Given the description of an element on the screen output the (x, y) to click on. 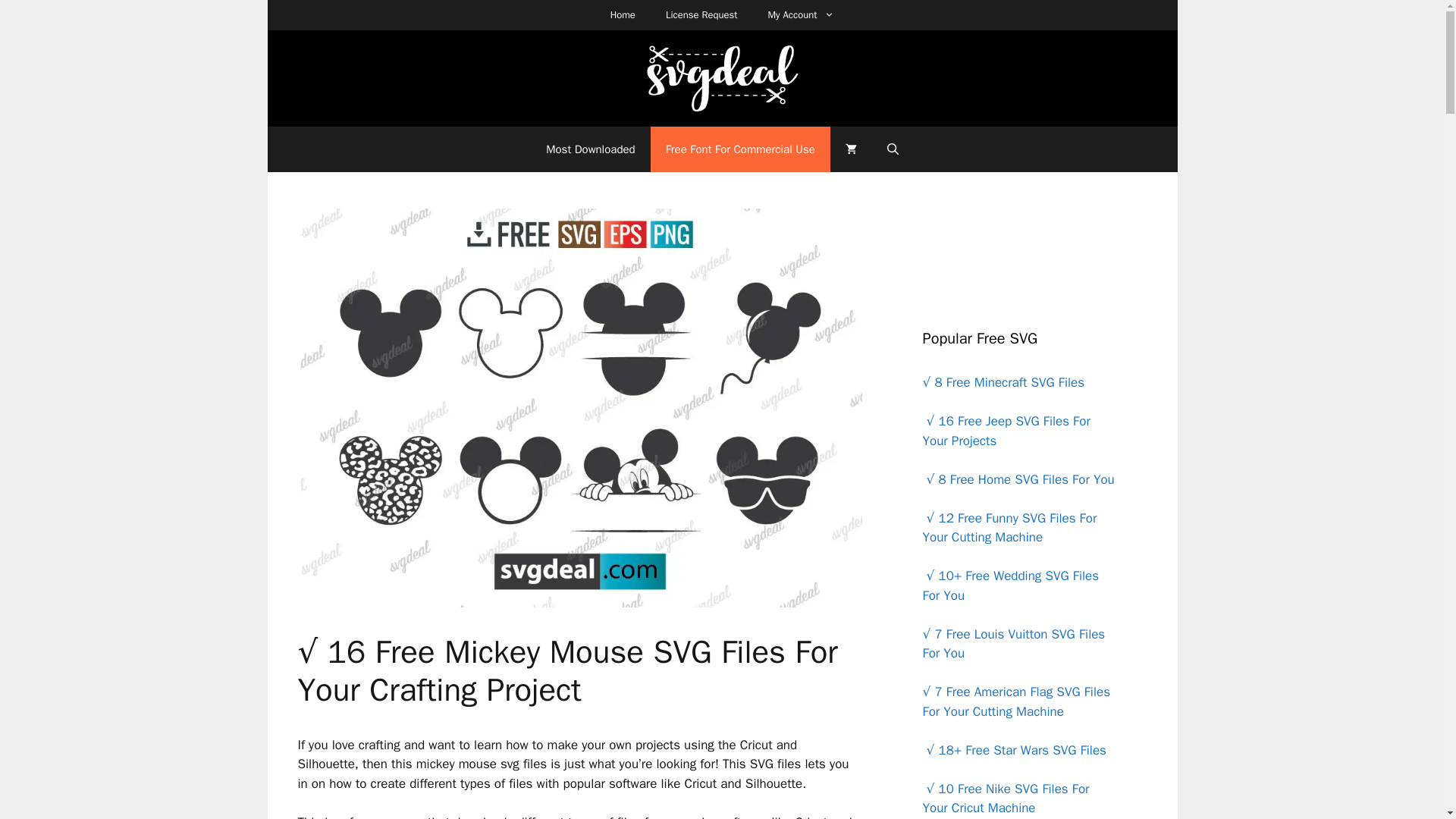
Most Downloaded (590, 148)
Home (622, 15)
License Request (701, 15)
My Account (800, 15)
View your shopping cart (850, 148)
Free Font For Commercial Use (739, 148)
